Given the description of an element on the screen output the (x, y) to click on. 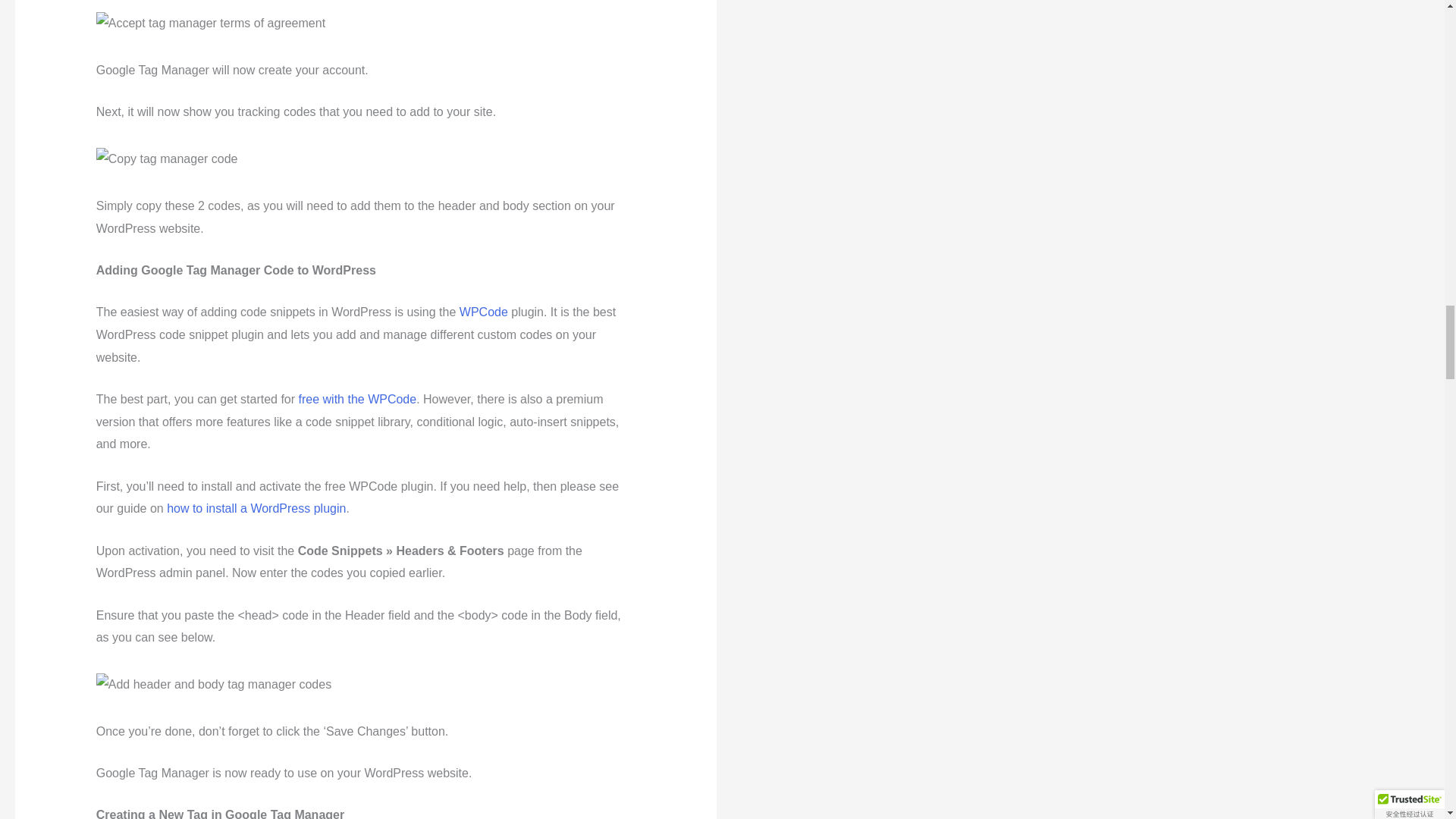
WPCode Free Code Snippet Plugin for WordPress (357, 399)
WPCode - WordPress Code Snippet Plugin (484, 311)
how to install a WordPress plugin (256, 508)
free with the WPCode (357, 399)
WPCode (484, 311)
